Given the description of an element on the screen output the (x, y) to click on. 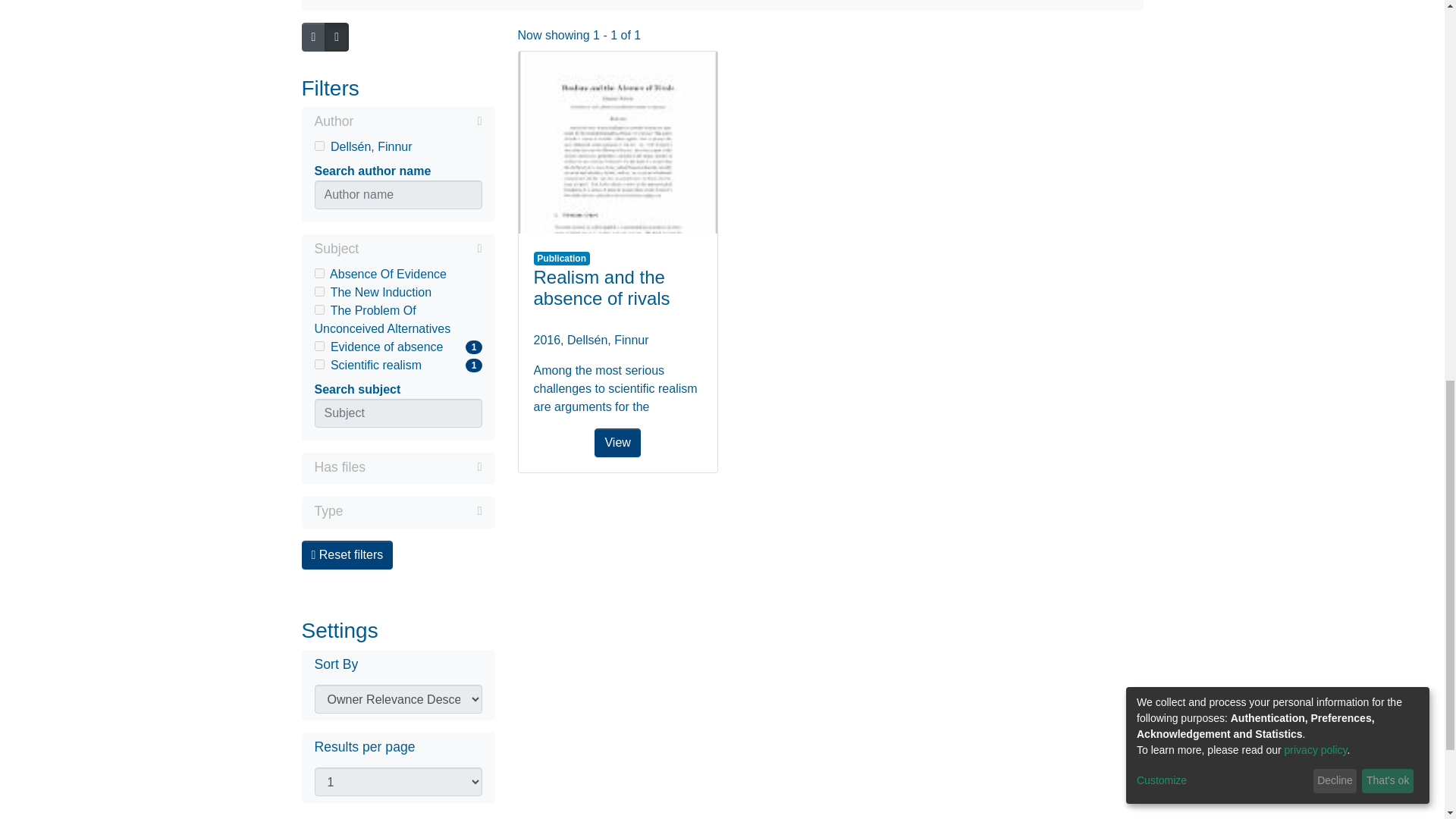
The Problem Of Unconceived Alternatives (397, 320)
Collapse filter (397, 347)
on (417, 121)
View (318, 309)
Collapse filter (617, 142)
The New Induction (419, 248)
on (397, 292)
on (318, 364)
Author (318, 291)
on (397, 122)
Absence Of Evidence (318, 346)
Subject (397, 274)
on (397, 365)
